Given the description of an element on the screen output the (x, y) to click on. 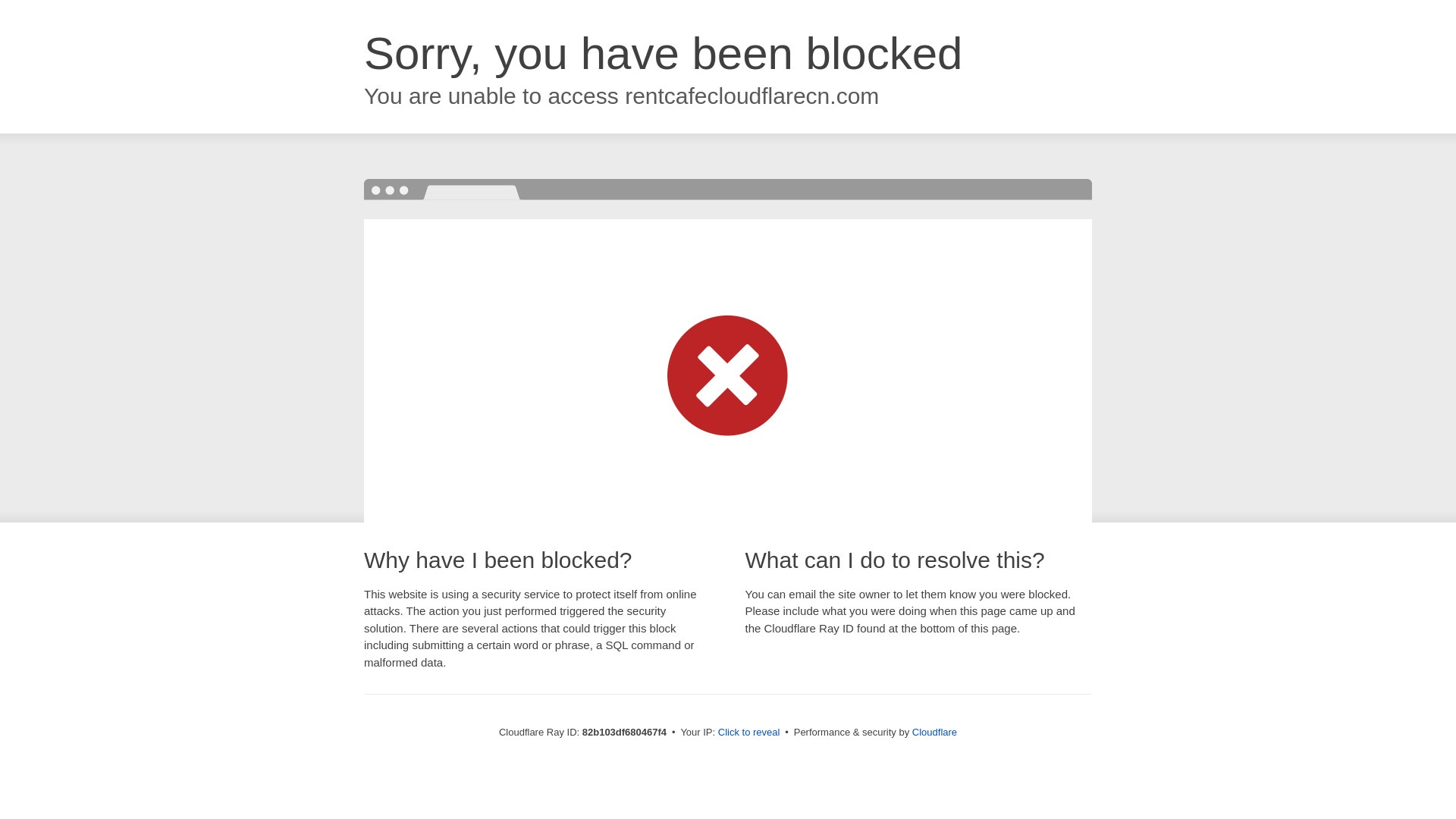
Click to reveal Element type: text (749, 732)
Cloudflare Element type: text (934, 731)
